Given the description of an element on the screen output the (x, y) to click on. 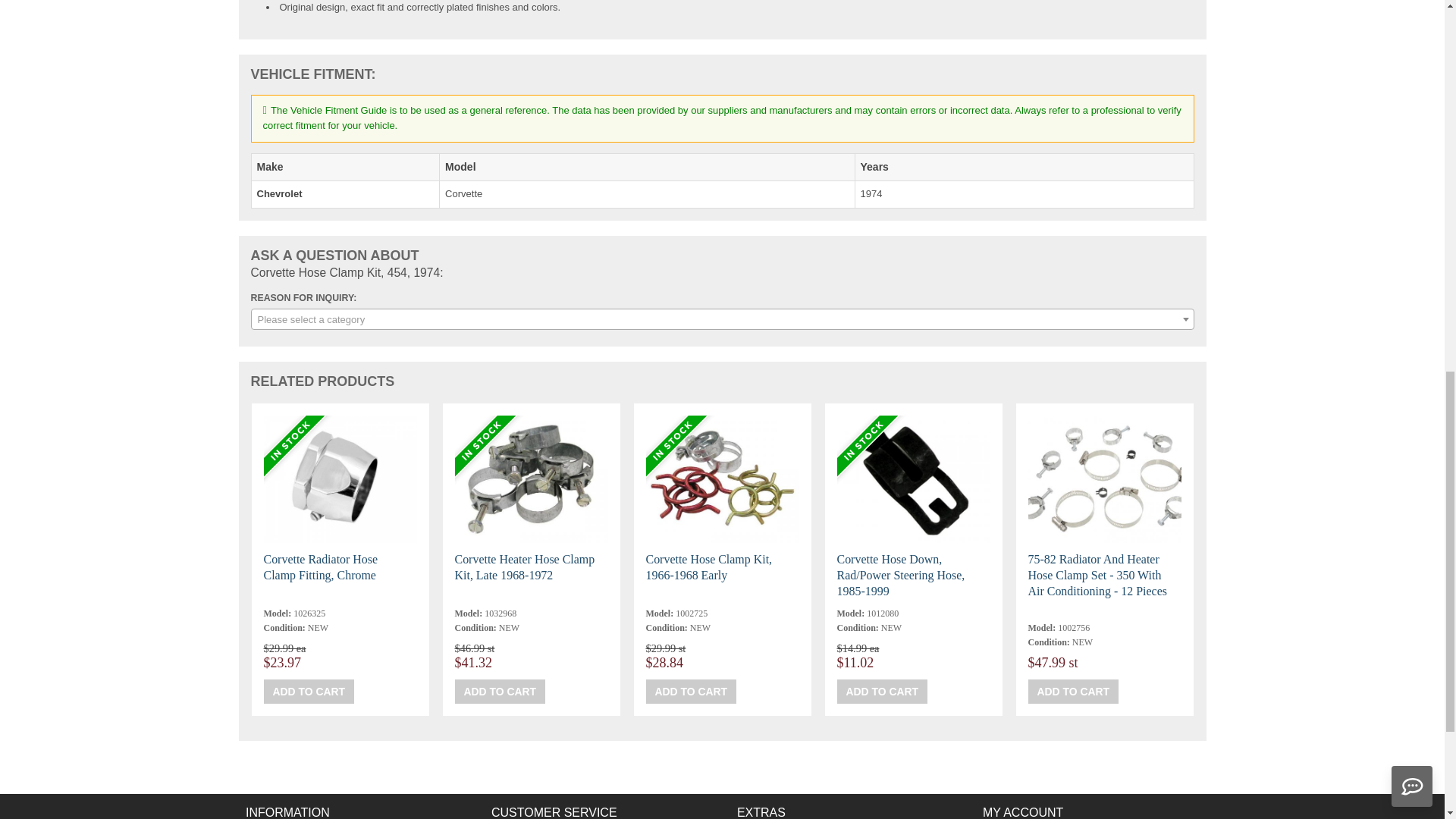
Add to Cart (500, 691)
Add to Cart (1073, 691)
Add to Cart (691, 691)
Add to Cart (882, 691)
Add to Cart (309, 691)
